Given the description of an element on the screen output the (x, y) to click on. 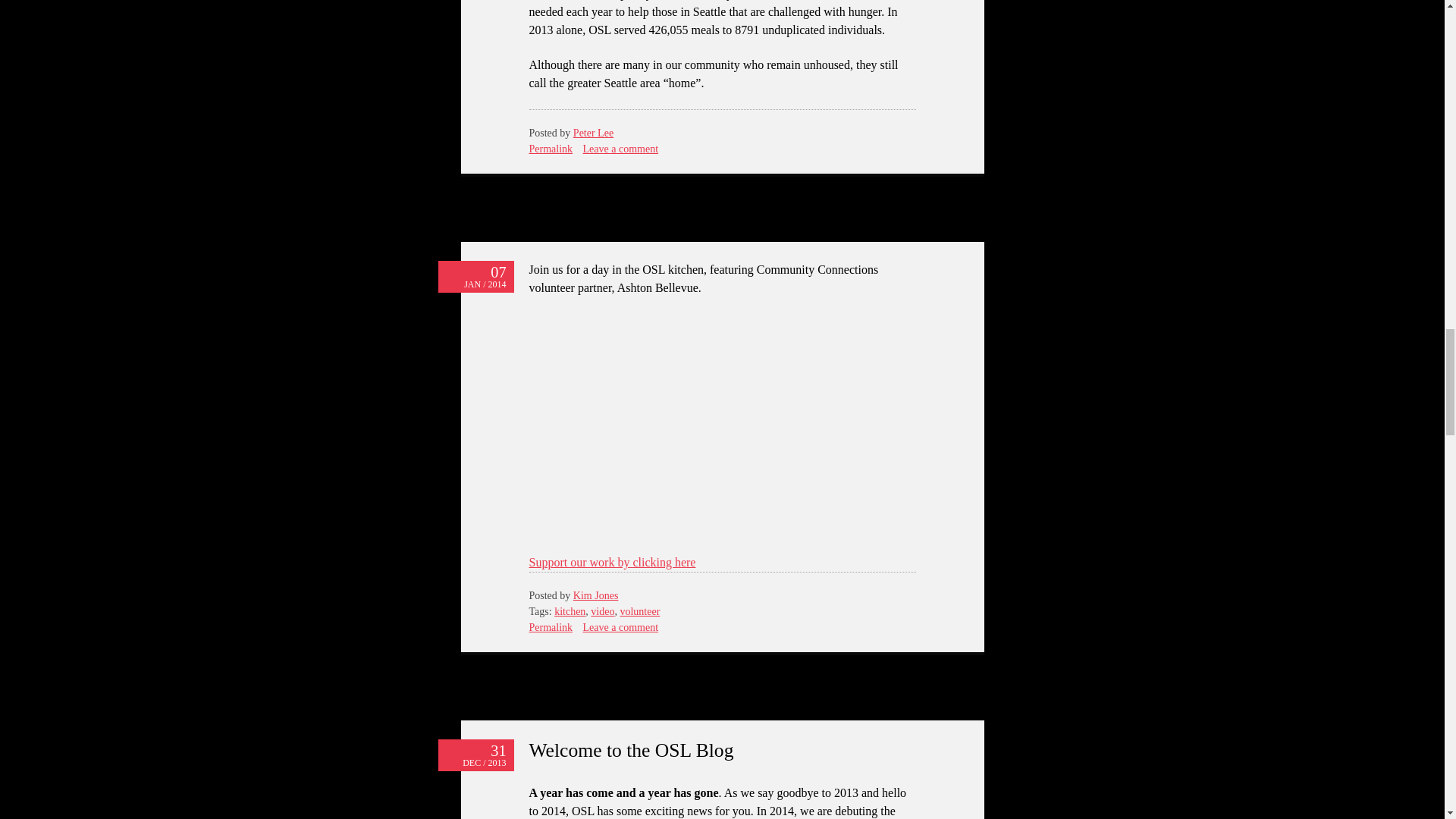
Permalink to Welcome to the OSL Blog (631, 750)
Permalink to Homeless or Unhoused? (551, 148)
Permalink to Welcome to the OSL Blog (475, 755)
volunteer (639, 611)
Permalink to A day in the OSL Kitchen (551, 627)
Leave a comment (621, 148)
OSL Kitchen (722, 422)
Support our work by clicking here (612, 562)
Peter Lee (592, 132)
video (602, 611)
